Given the description of an element on the screen output the (x, y) to click on. 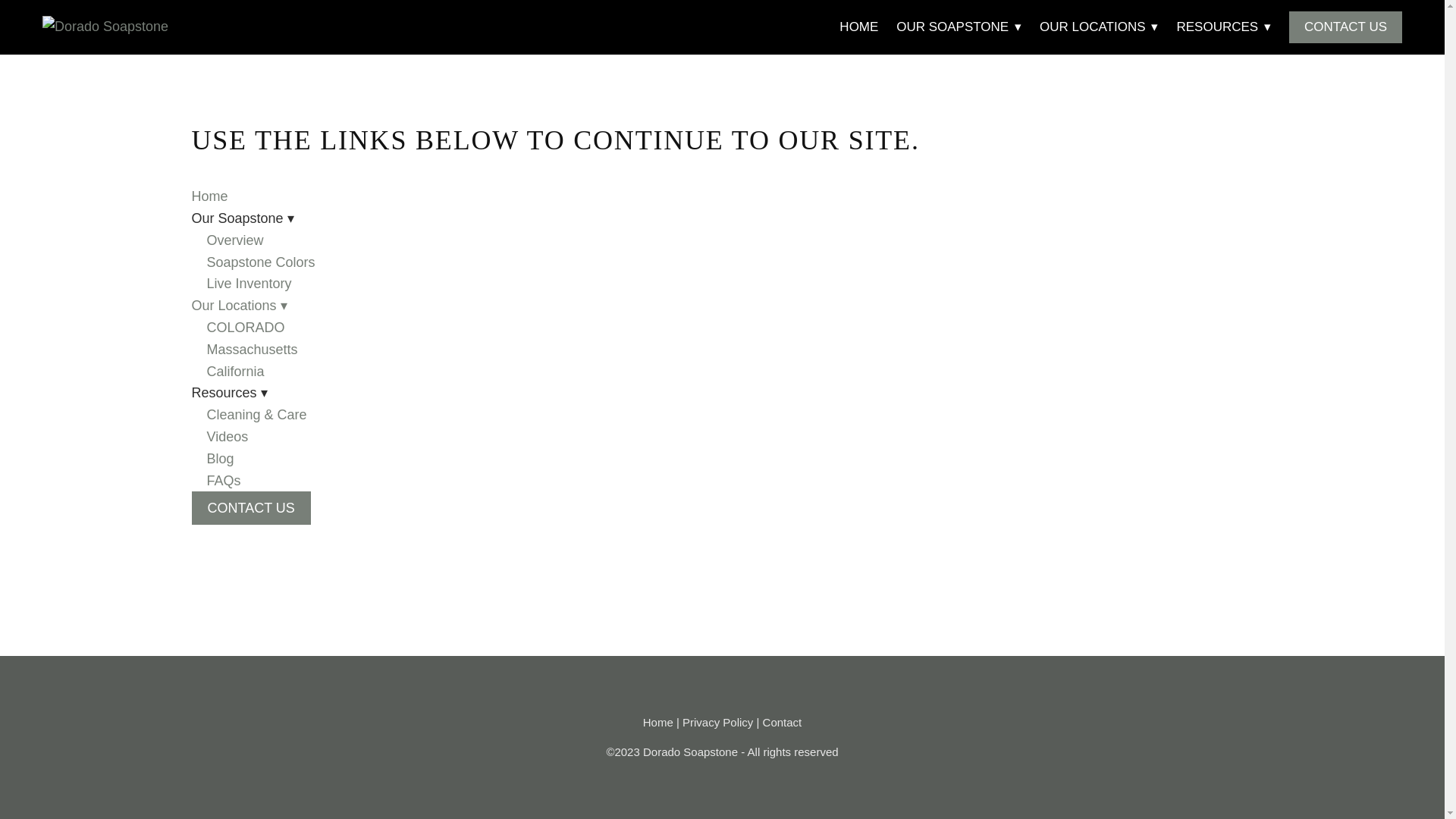
Blog (219, 458)
CONTACT US (1345, 27)
COLORADO (244, 327)
CONTACT US (250, 507)
Contact (782, 721)
Overview (234, 240)
Privacy Policy (717, 721)
Home (208, 196)
Massachusetts (251, 349)
California (234, 371)
